Given the description of an element on the screen output the (x, y) to click on. 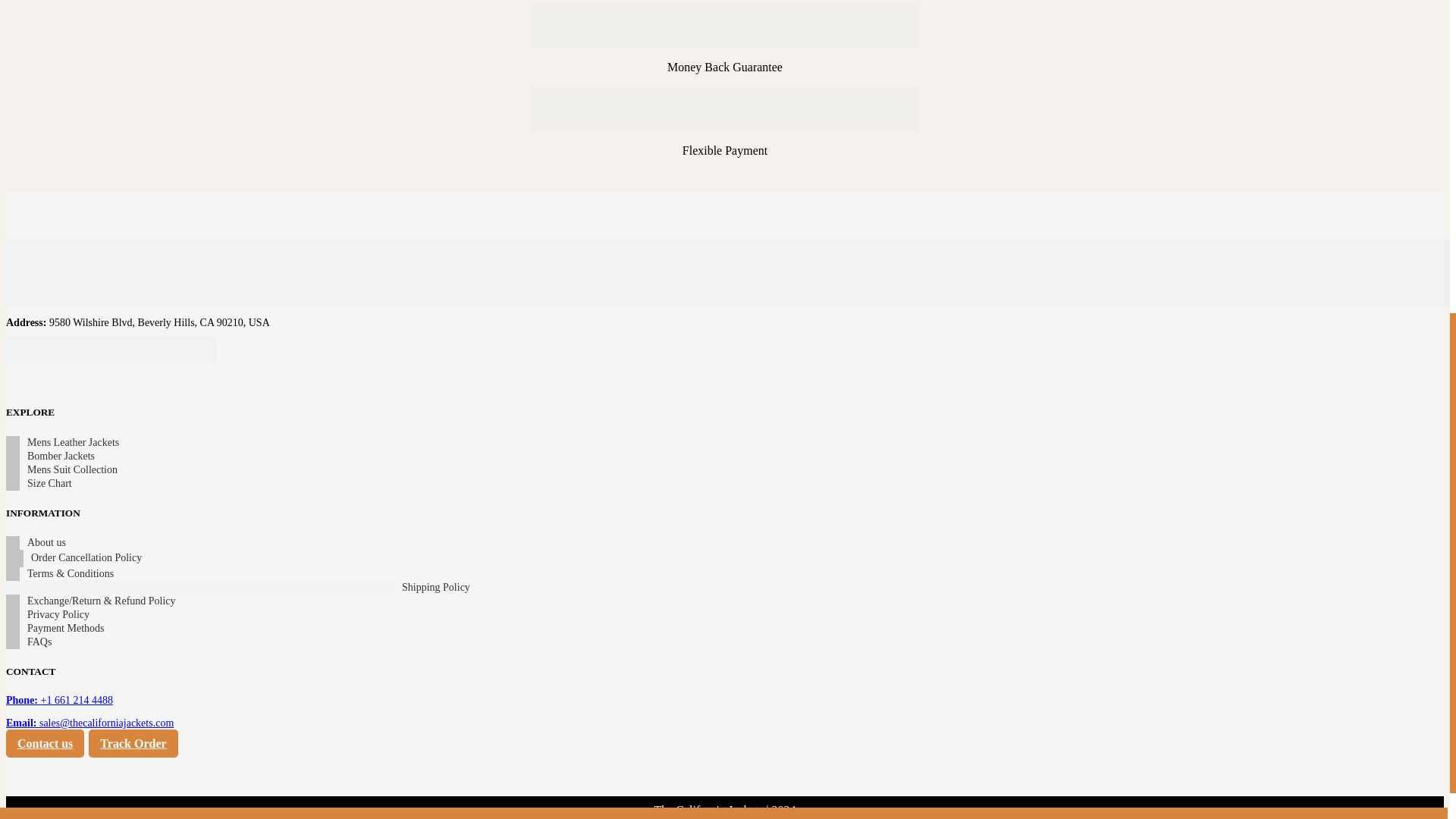
Privacy Policy (57, 614)
Shipping Policy (435, 587)
Mens Leather Jackets (73, 442)
FAQs (38, 642)
About us (46, 542)
Track Order (132, 743)
Bomber Jackets (60, 456)
The California Jackets (709, 809)
Mens Suit Collection (72, 469)
Order Cancellation Policy (85, 558)
